Given the description of an element on the screen output the (x, y) to click on. 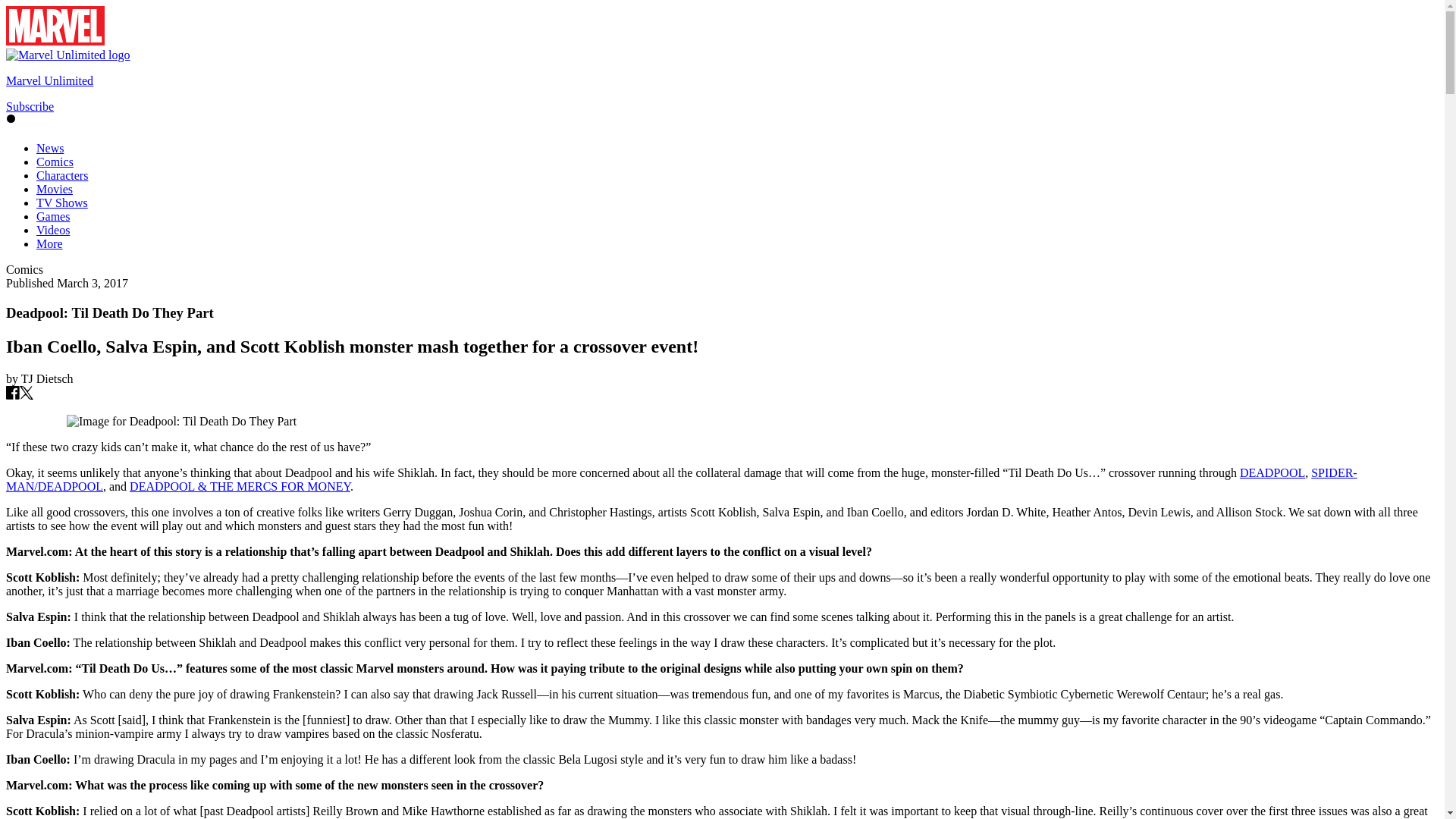
TV Shows (61, 202)
DEADPOOL (1272, 472)
Characters (61, 174)
Movies (54, 188)
News (50, 147)
Videos (52, 229)
Comics (55, 161)
More (49, 243)
Games (52, 215)
